Given the description of an element on the screen output the (x, y) to click on. 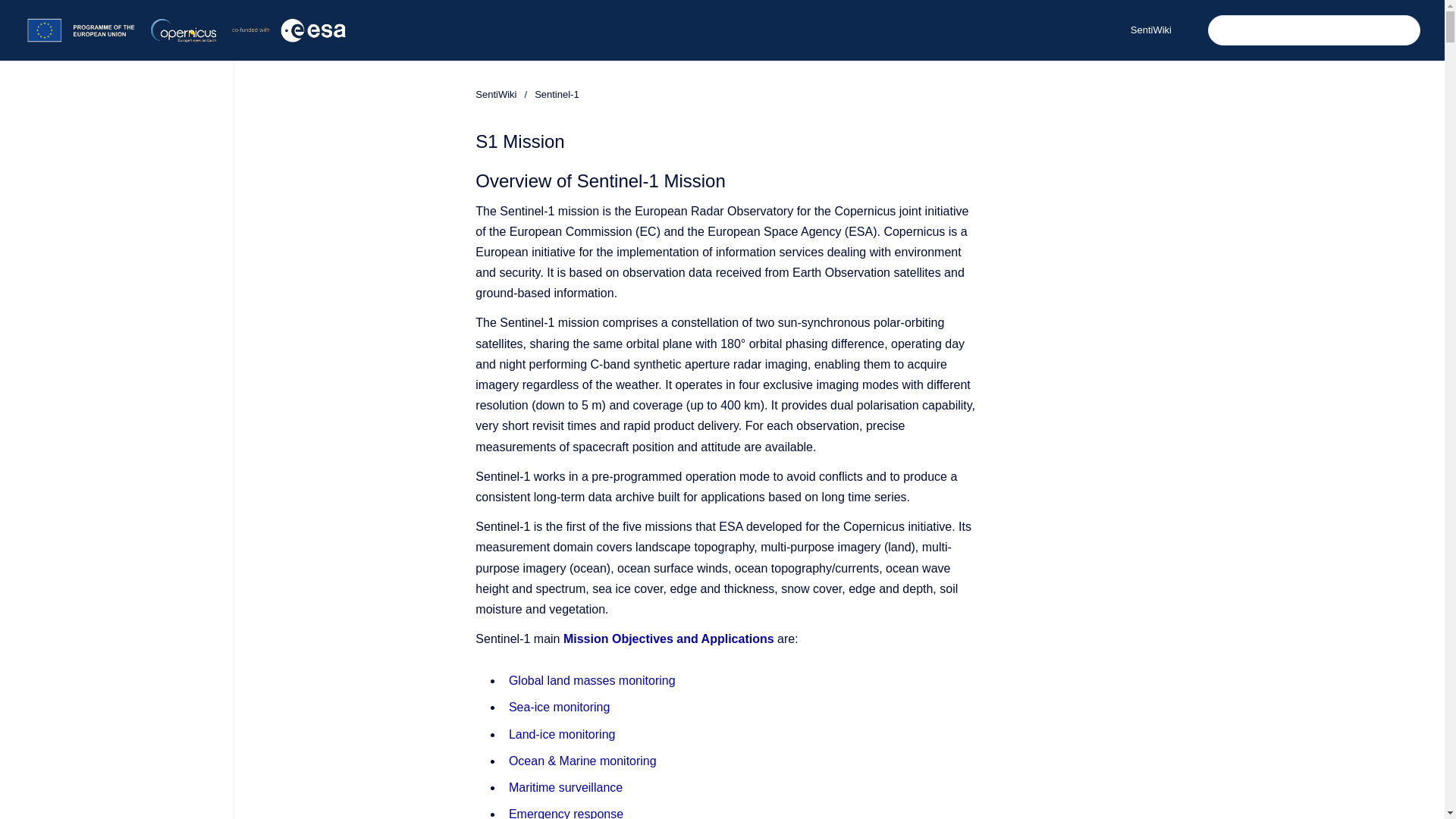
Go to homepage (186, 30)
Sentinel-1 (556, 94)
SentiWiki (496, 94)
SentiWiki (1150, 29)
Global land masses monitoring (591, 680)
Mission Objectives and Applications (668, 638)
Sea-ice monitoring (559, 707)
Emergency response (565, 813)
Land-ice monitoring (561, 734)
Maritime surveillance (565, 787)
